Given the description of an element on the screen output the (x, y) to click on. 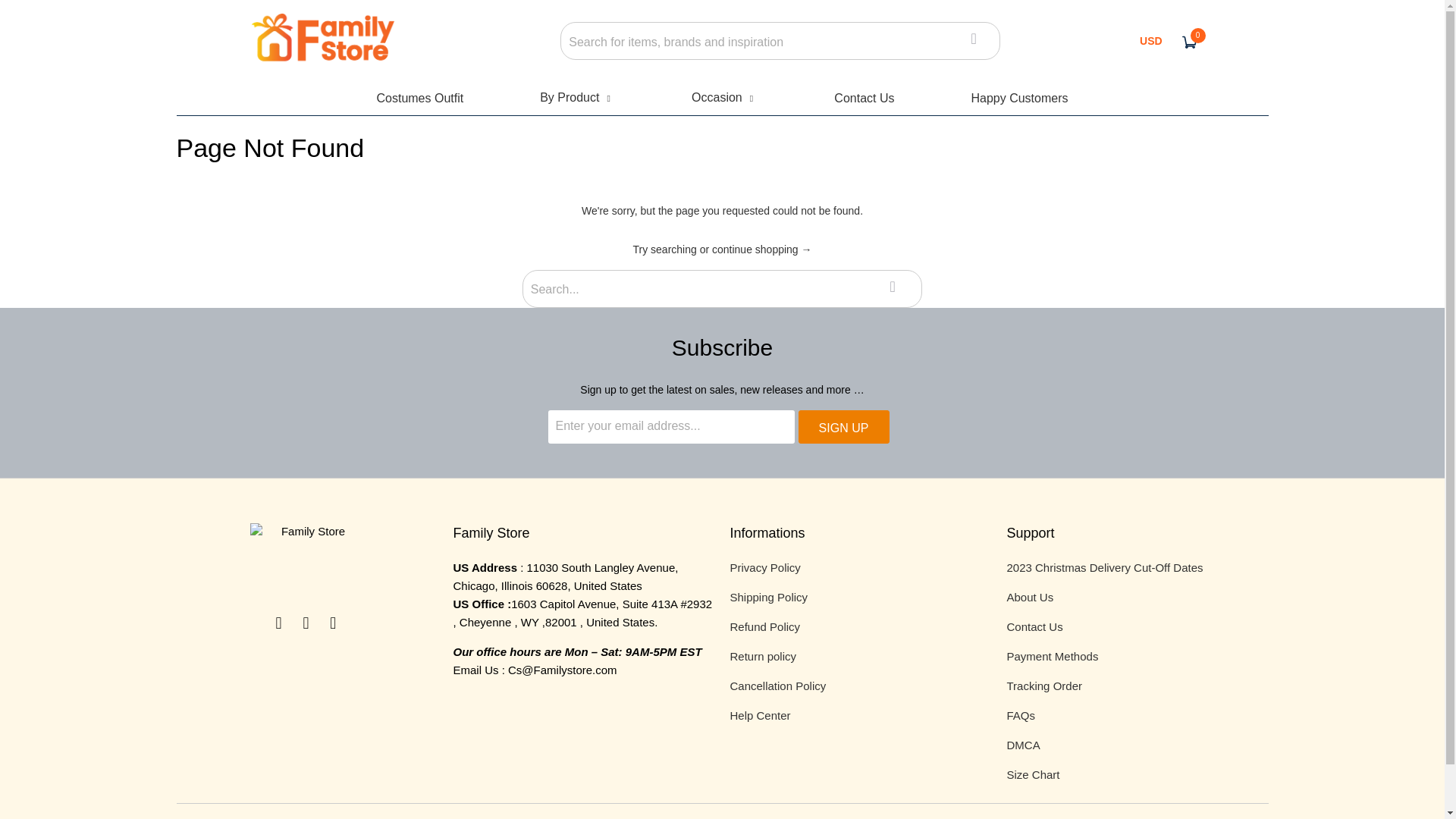
USD (1151, 40)
Costumes Outfit (419, 98)
Familystore on Pinterest (333, 623)
0 (1189, 40)
Familystore on Instagram (306, 623)
Familystore (322, 40)
Sign Up (842, 426)
Email Familystore (278, 623)
